Given the description of an element on the screen output the (x, y) to click on. 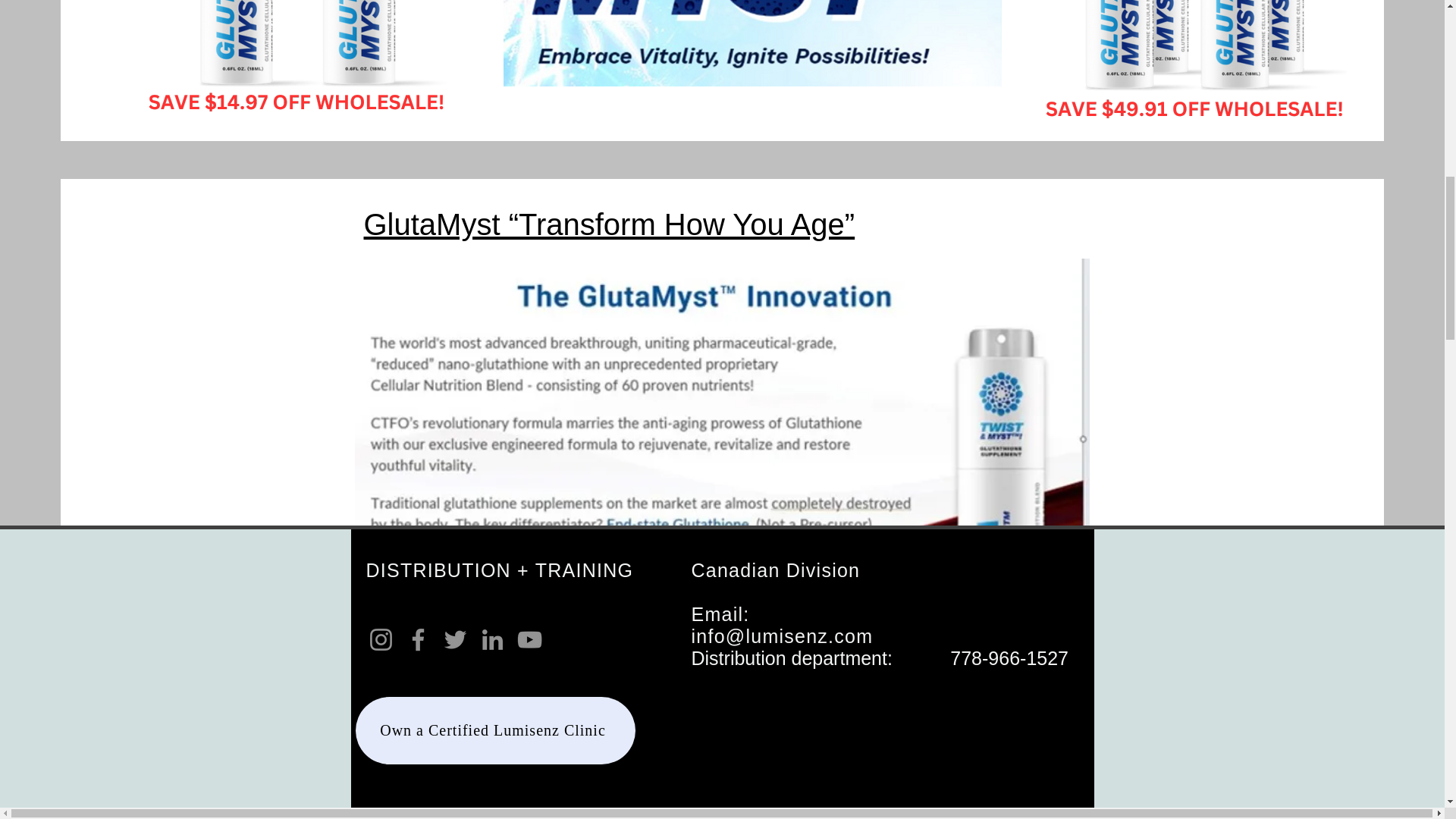
Picture1.png (752, 43)
